Given the description of an element on the screen output the (x, y) to click on. 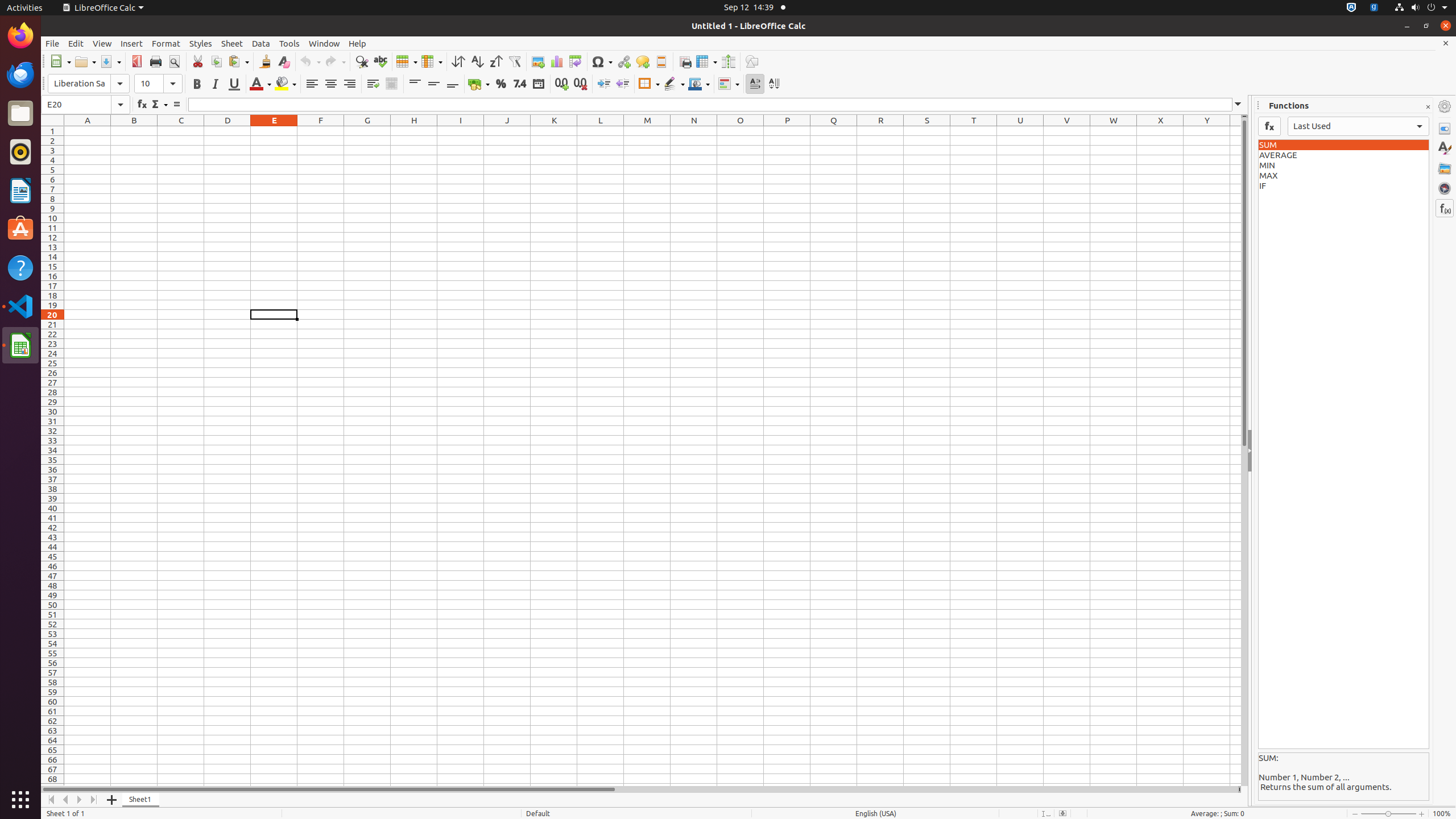
Increase Element type: push-button (603, 83)
Gallery Element type: radio-button (1444, 168)
SUM Element type: list-item (1343, 144)
C1 Element type: table-cell (180, 130)
I1 Element type: table-cell (460, 130)
